Given the description of an element on the screen output the (x, y) to click on. 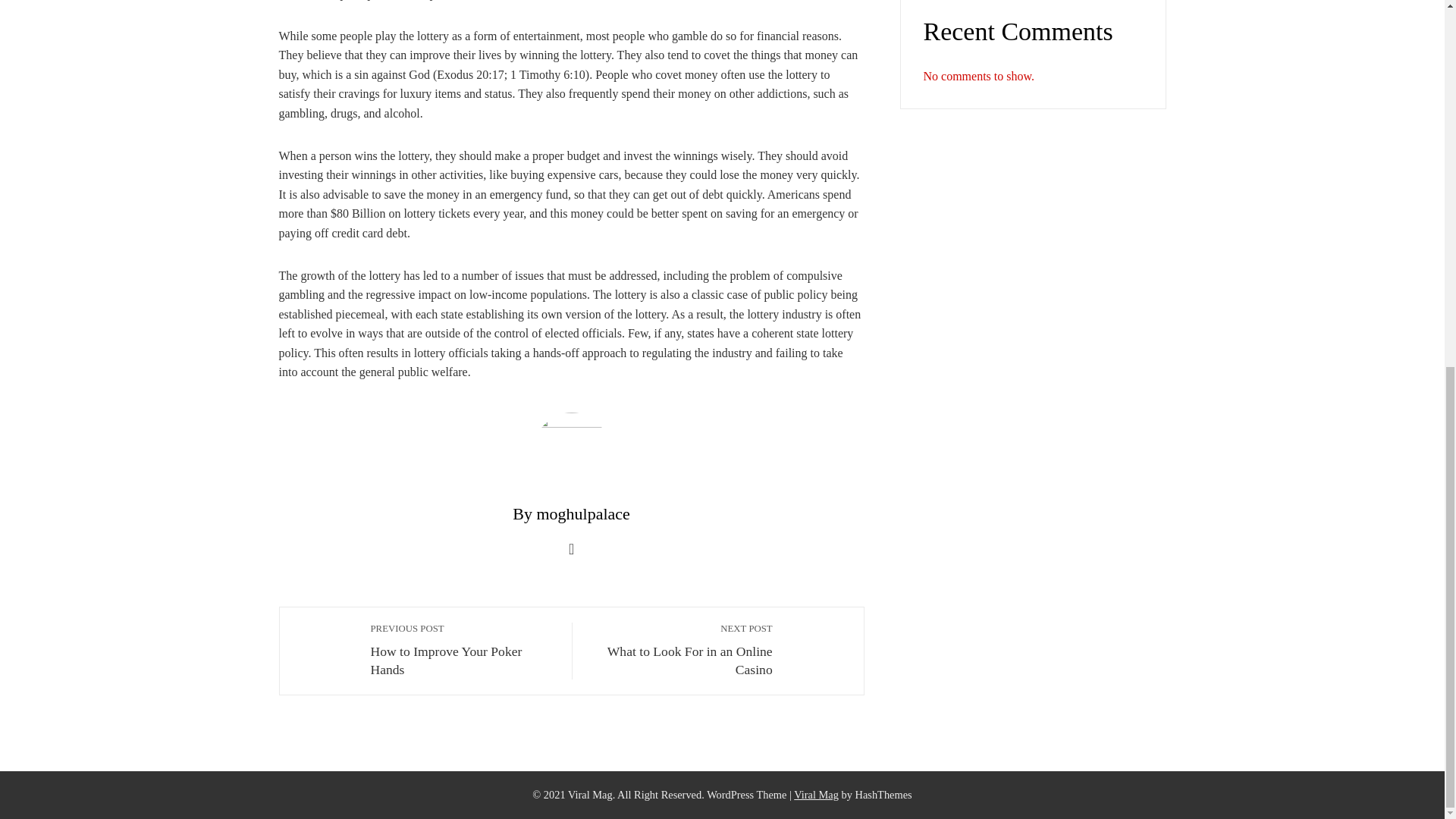
Viral Mag (680, 650)
Download Viral News (462, 650)
